Given the description of an element on the screen output the (x, y) to click on. 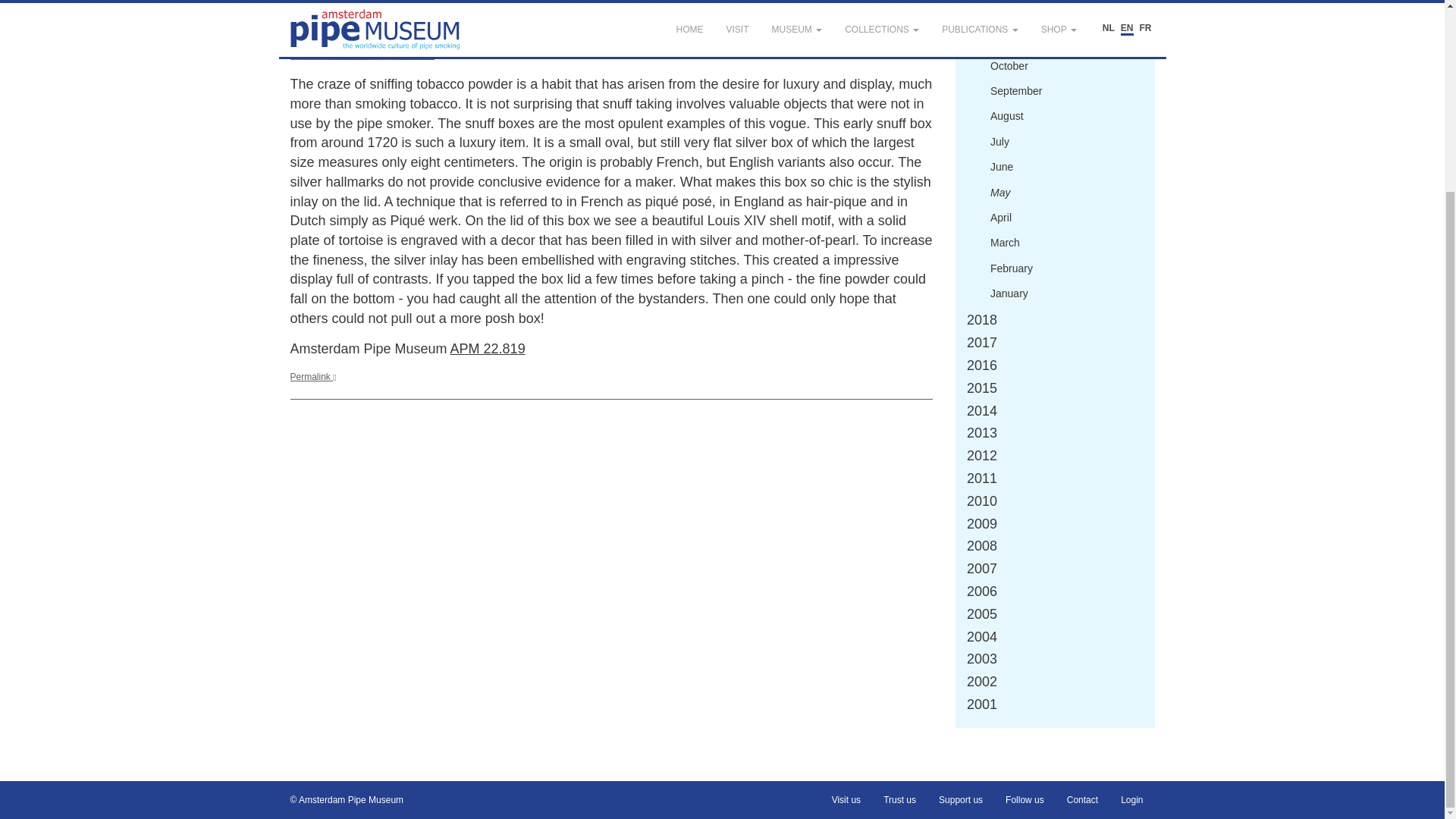
APM 22.819 (487, 348)
Permalink (312, 376)
